Given the description of an element on the screen output the (x, y) to click on. 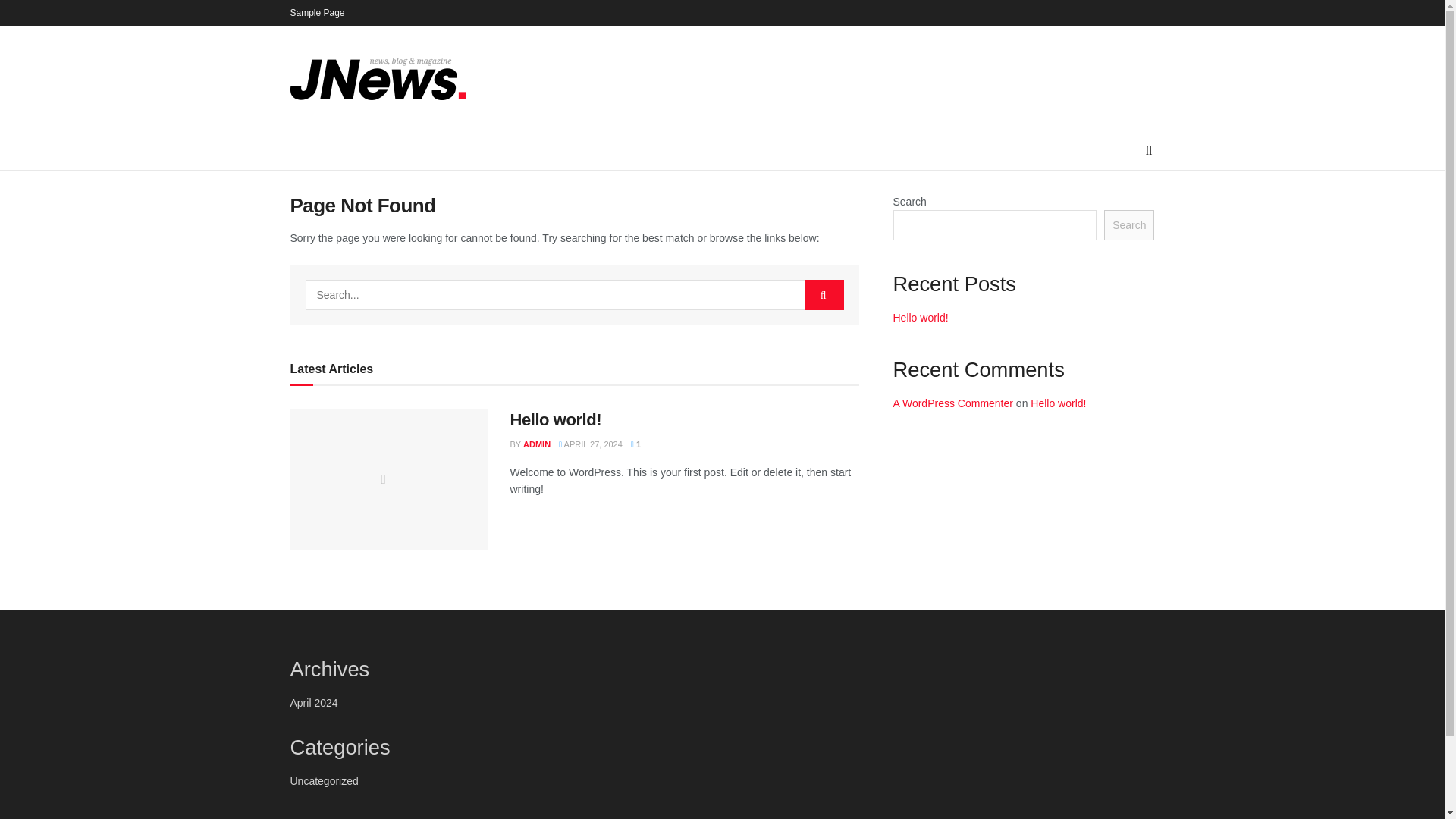
Hello world! (555, 419)
APRIL 27, 2024 (591, 443)
1 (635, 443)
ADMIN (536, 443)
Uncategorized (323, 780)
April 2024 (313, 702)
Sample Page (316, 12)
Search (1128, 224)
Hello world! (921, 317)
Hello world! (1058, 403)
A WordPress Commenter (953, 403)
